Given the description of an element on the screen output the (x, y) to click on. 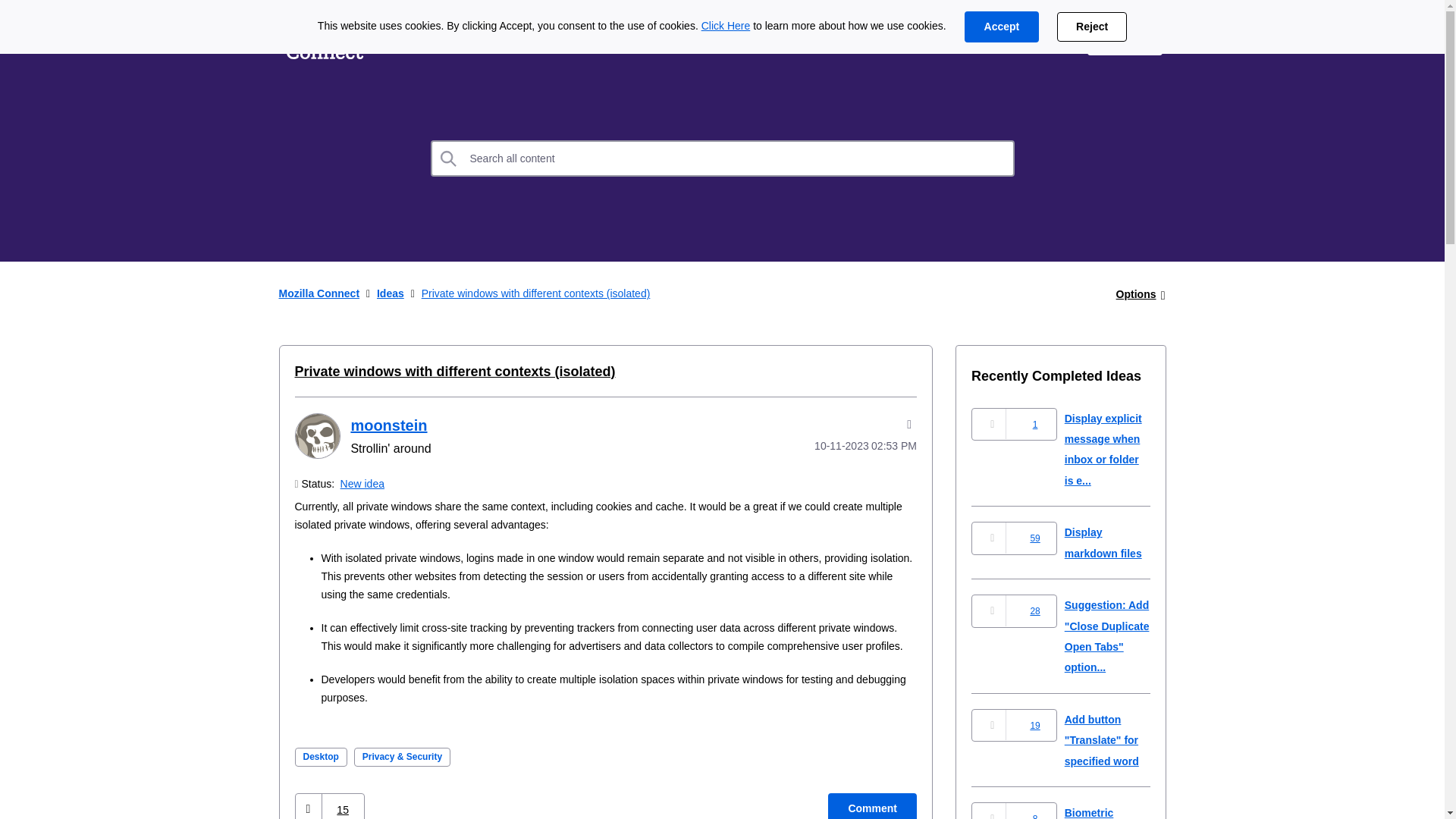
Search (448, 158)
Mozilla Connect (319, 293)
Accept (1001, 26)
Click Here (726, 25)
New idea (362, 483)
Search (448, 158)
Community (607, 39)
Mozilla Connect (324, 39)
Reject (1091, 26)
Discussions (500, 39)
moonstein (316, 435)
Click here to see who gave kudos to this post. (342, 808)
Desktop (320, 756)
Posted on (845, 445)
moonstein (388, 425)
